Given the description of an element on the screen output the (x, y) to click on. 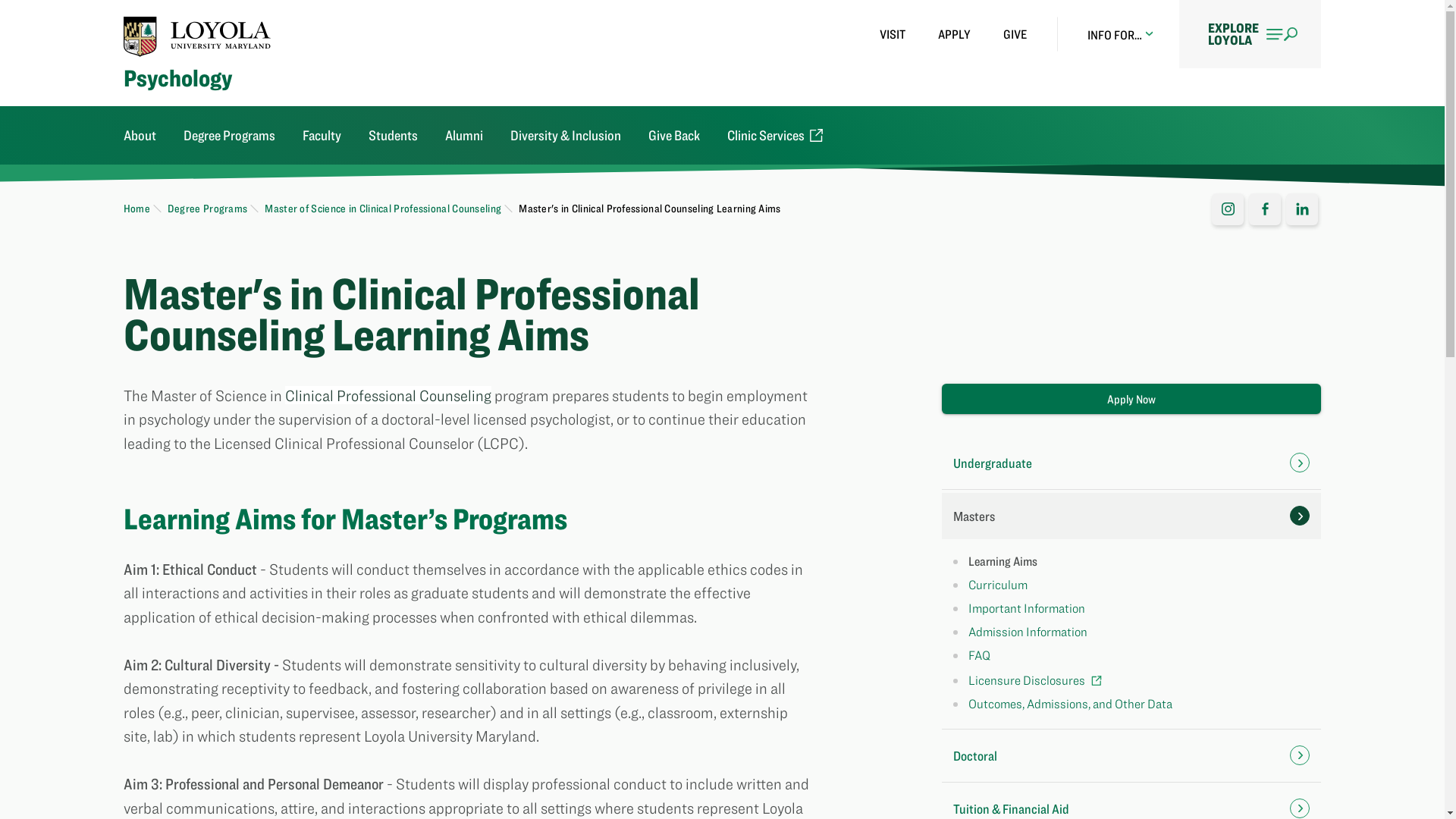
APPLY (954, 34)
GIVE (1015, 34)
VISIT (892, 34)
Logo (196, 35)
EXPLORE LOYOLA (1249, 33)
